Given the description of an element on the screen output the (x, y) to click on. 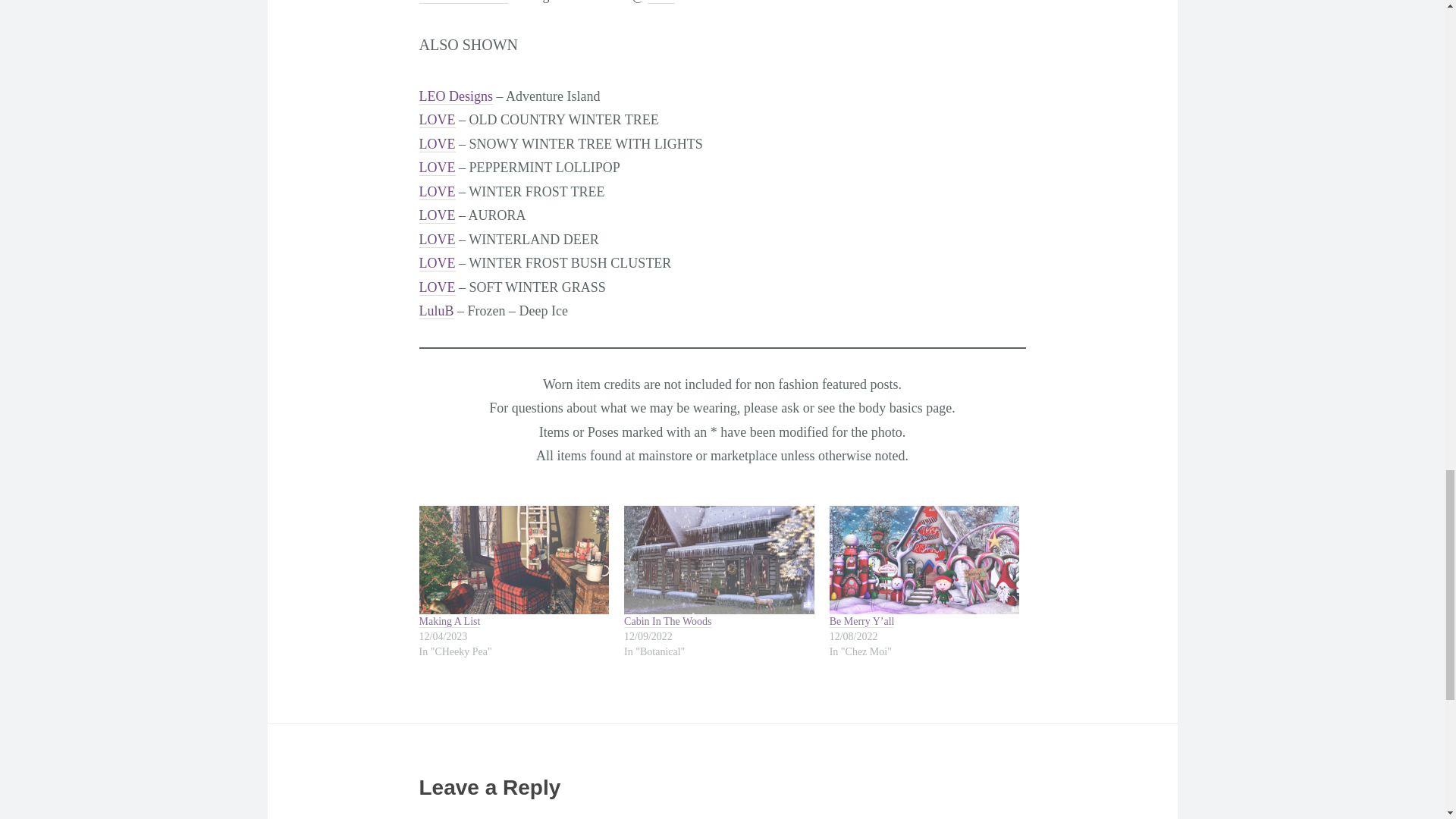
LOVE (436, 215)
LOVE (436, 144)
Uber (661, 2)
Making A List (449, 621)
LuluB (435, 311)
LOVE (436, 119)
LOVE (436, 287)
LOVE (436, 239)
LEO Designs (456, 96)
The Green Door (463, 2)
LOVE (436, 167)
LOVE (436, 263)
LOVE (436, 191)
